Given the description of an element on the screen output the (x, y) to click on. 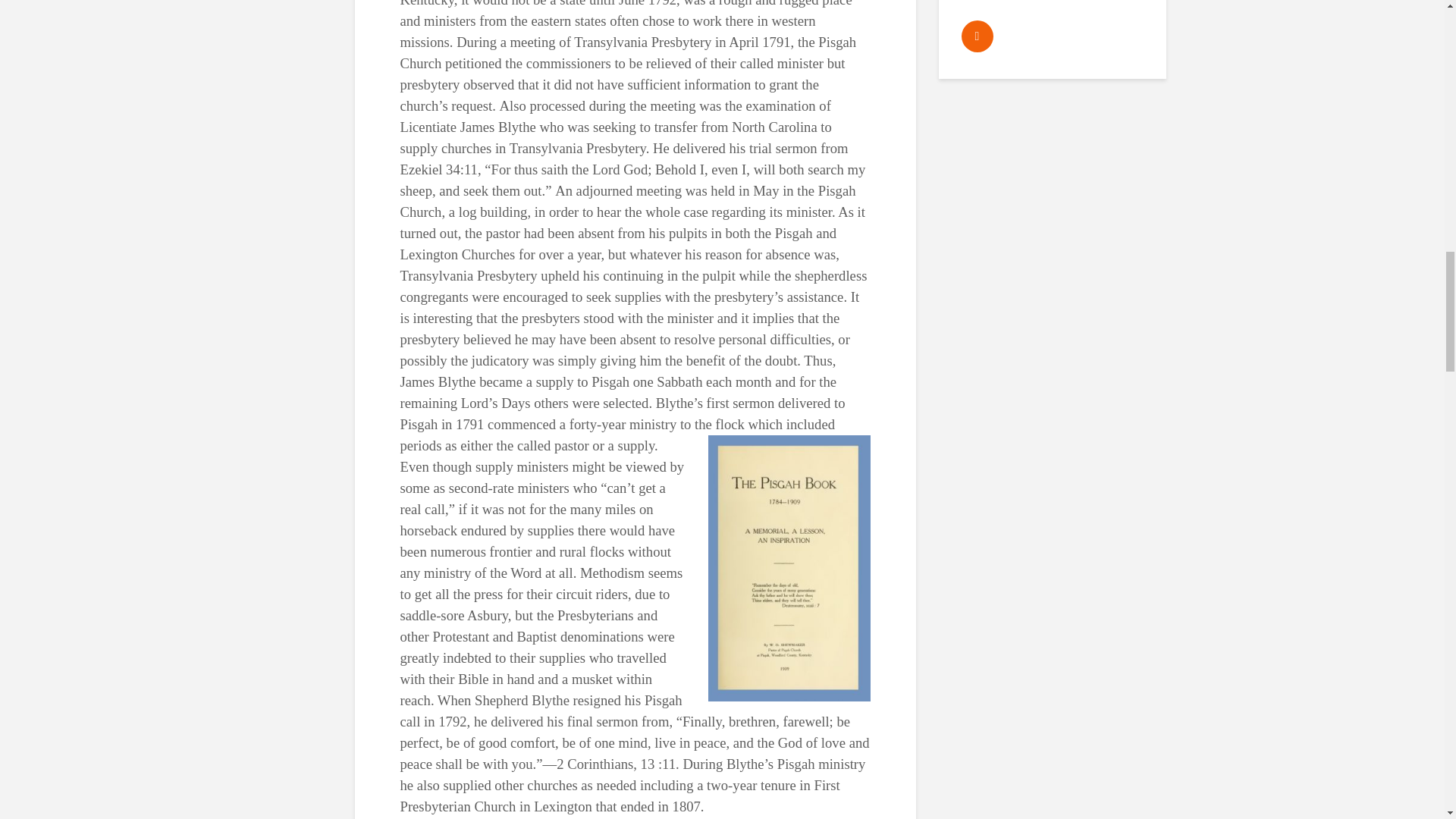
RSS (976, 36)
